Given the description of an element on the screen output the (x, y) to click on. 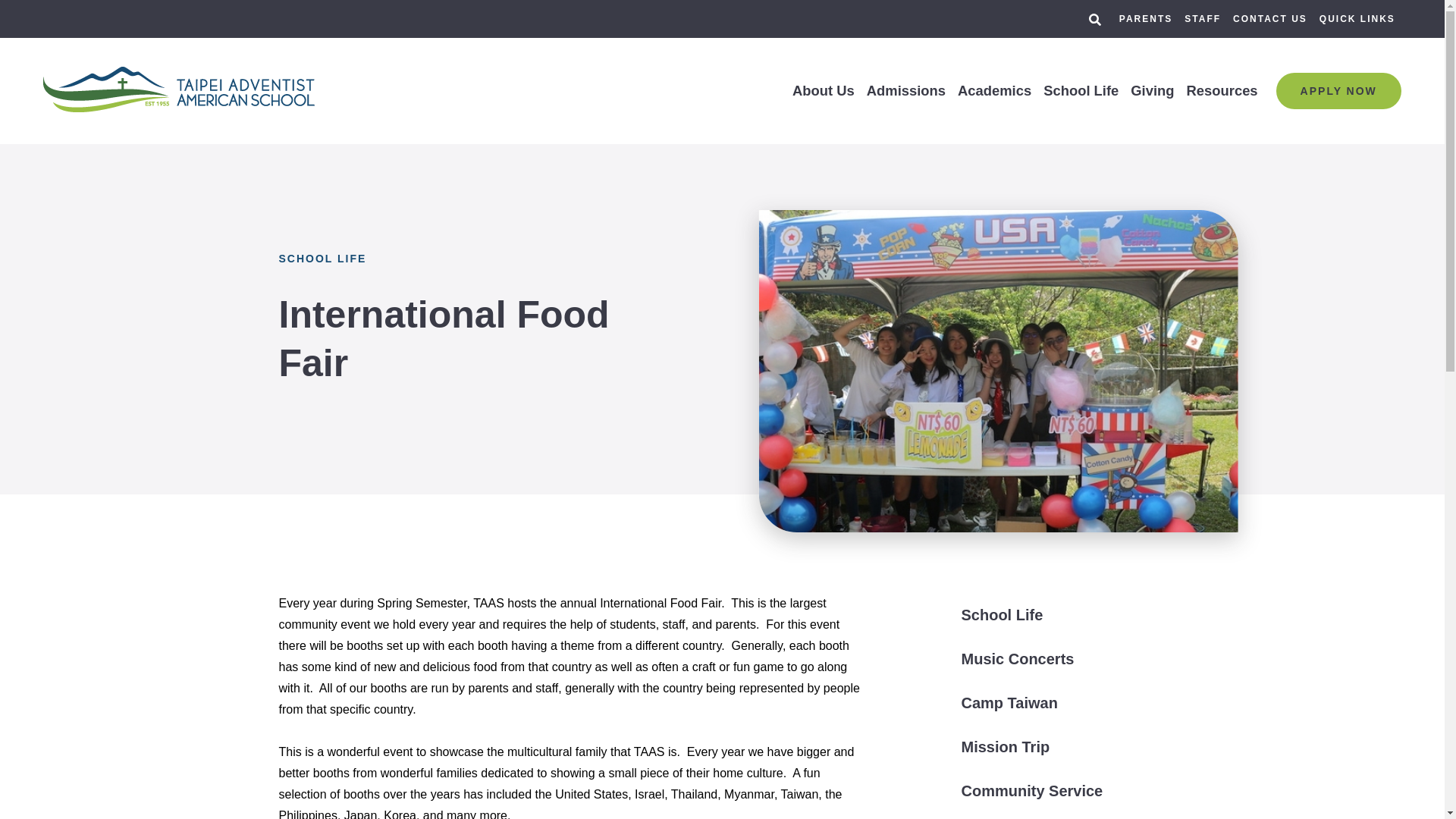
About Us (823, 90)
QUICK LINKS (1356, 18)
Admissions (905, 90)
Academics (994, 90)
PARENTS (1145, 18)
STAFF (1203, 18)
CONTACT US (1270, 18)
